Given the description of an element on the screen output the (x, y) to click on. 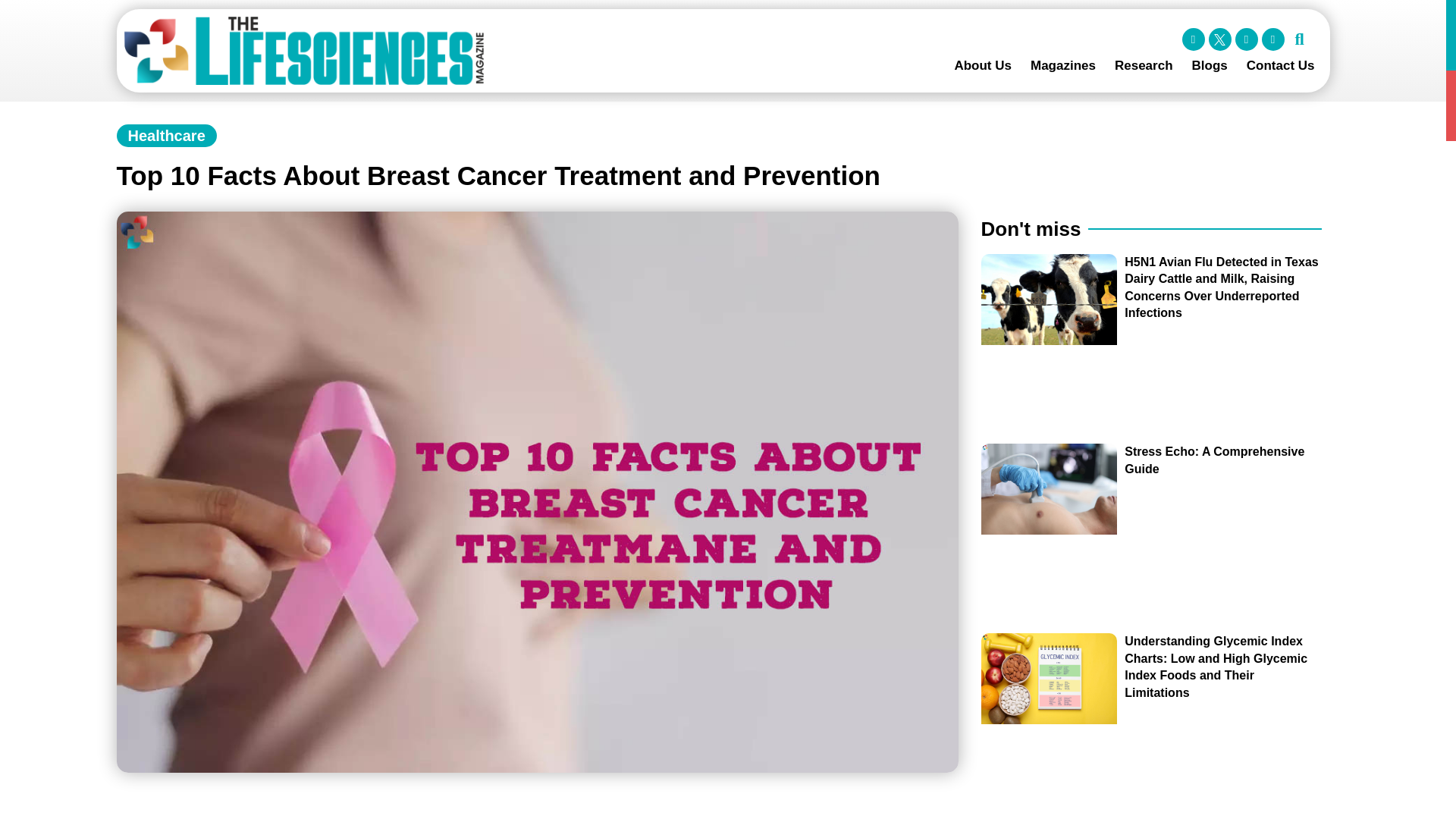
Stress Echo: A Comprehensive Guide (1214, 460)
About Us (982, 65)
Contact Us (1280, 65)
Healthcare (166, 135)
Research (1144, 65)
Magazines (1063, 65)
Blogs (1209, 65)
